Given the description of an element on the screen output the (x, y) to click on. 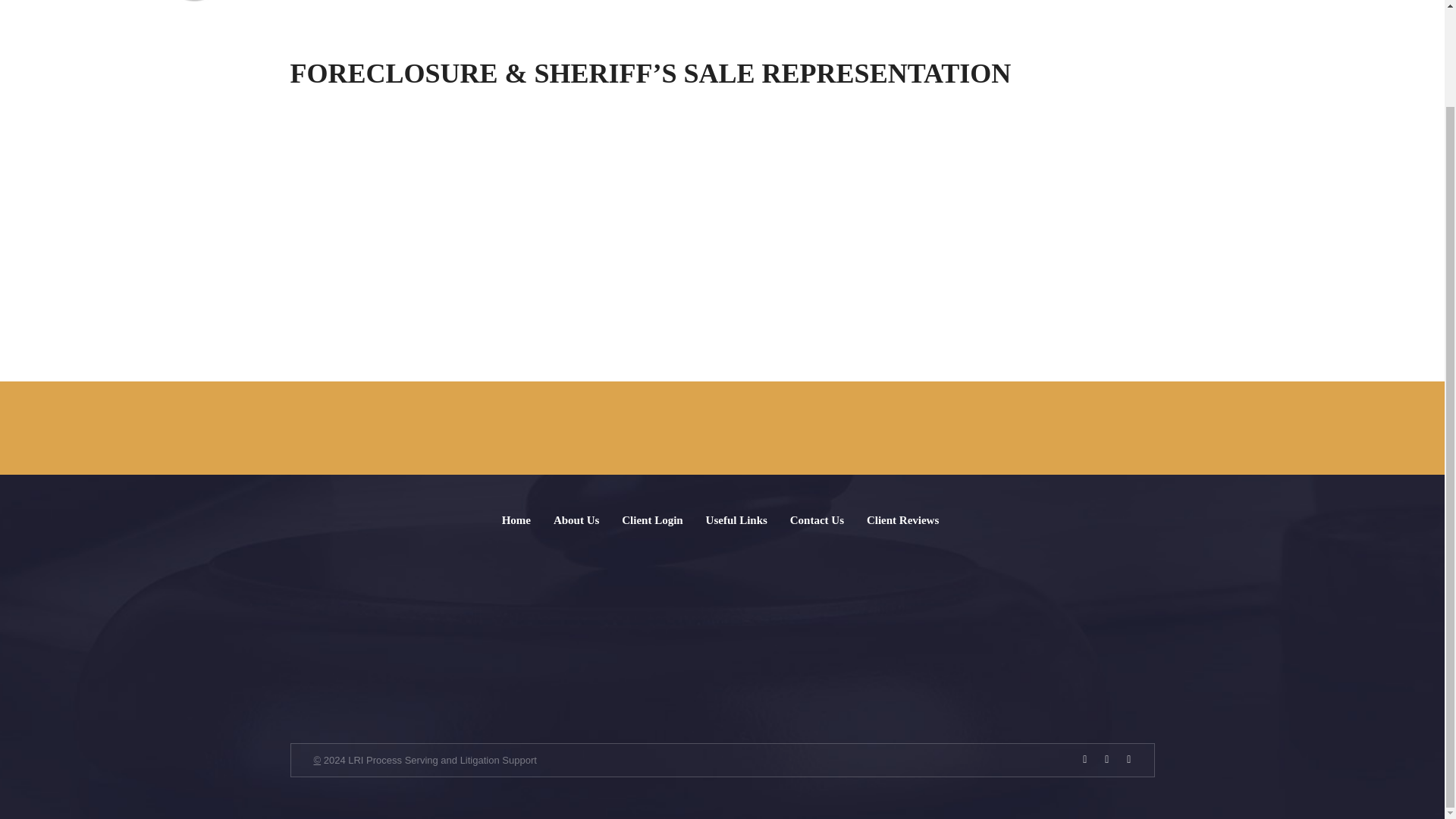
Contact Us (817, 520)
Client Login (651, 520)
About (816, 1)
Client Login (1042, 1)
Home (516, 520)
About Us (575, 520)
Client Reviews (902, 520)
Home (768, 1)
Resources (932, 1)
Useful Links (736, 520)
